Given the description of an element on the screen output the (x, y) to click on. 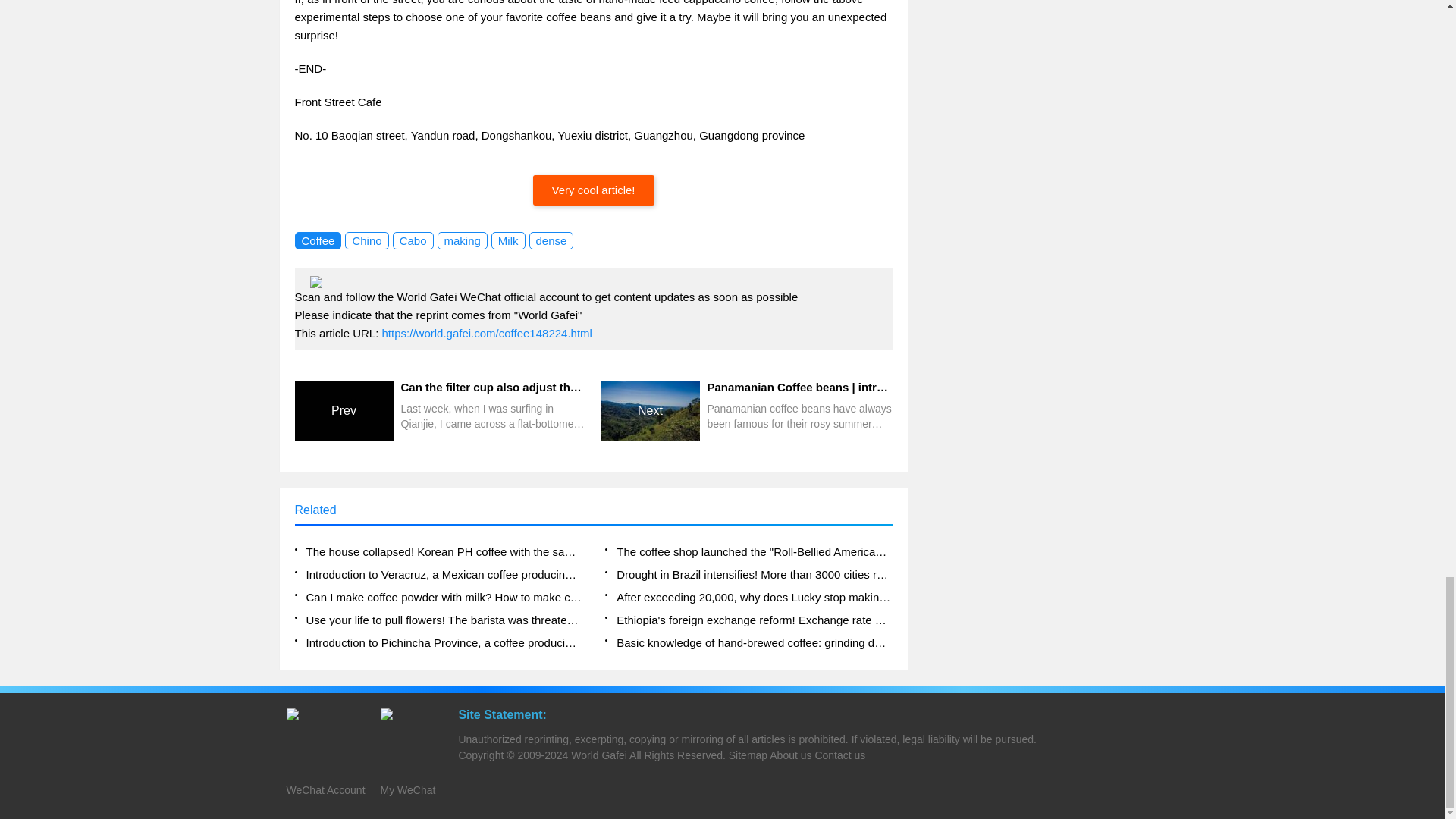
Very cool article! (592, 189)
making (461, 240)
Cabo (413, 240)
dense (551, 240)
Coffee (317, 240)
The coffee shop launched the  (748, 551)
Chino (366, 240)
Milk (508, 240)
After exceeding 20,000, why does Lucky stop making money? (748, 597)
